Given the description of an element on the screen output the (x, y) to click on. 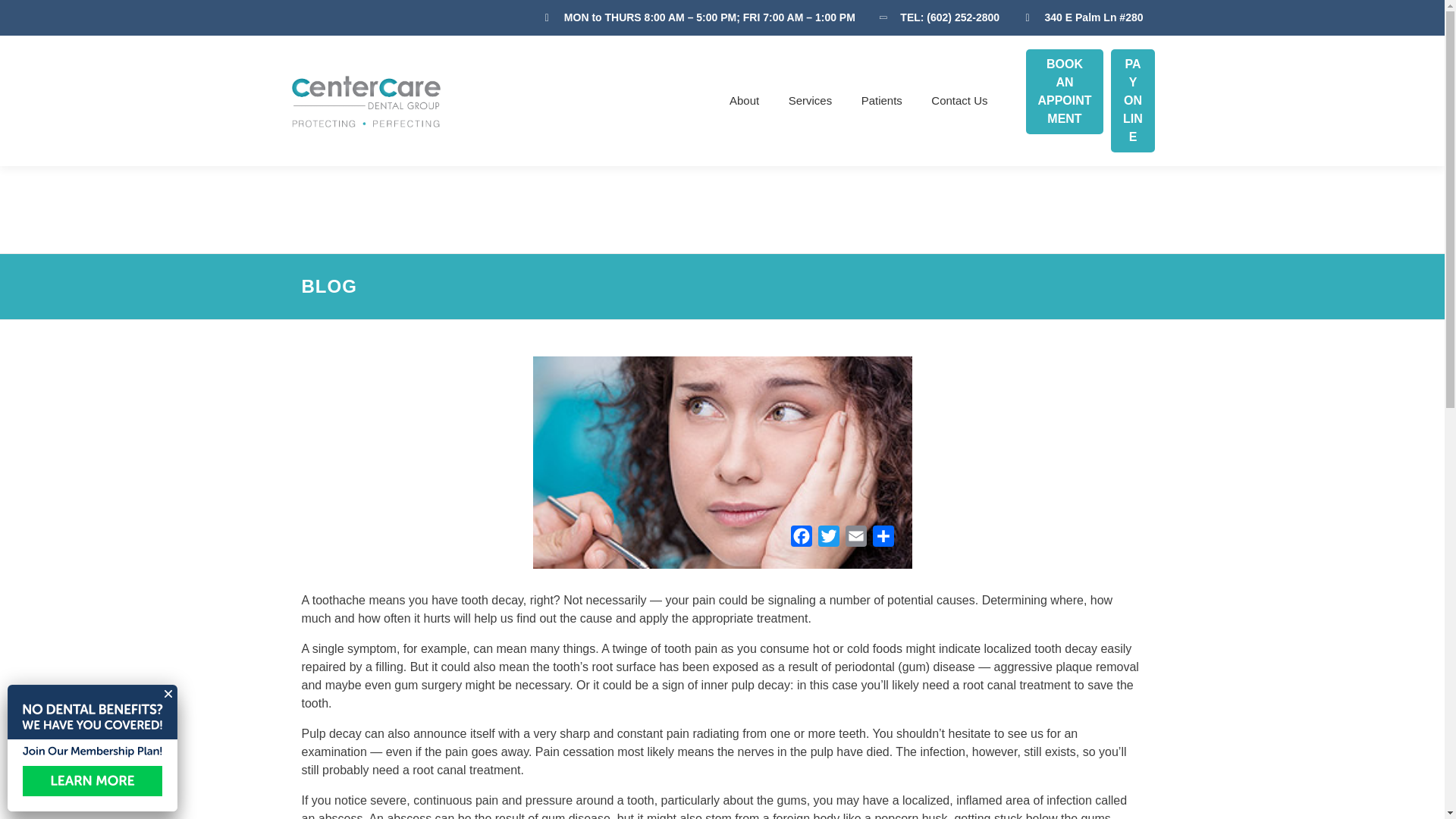
Opens in new tab (1064, 91)
Opens in new tab (800, 539)
Opens in new tab (882, 539)
Twitter (827, 539)
Email (855, 539)
BOOK AN APPOINTMENT (1064, 91)
Opens in new tab (855, 539)
Patients (881, 100)
Contact Us (952, 100)
Services (810, 100)
